Given the description of an element on the screen output the (x, y) to click on. 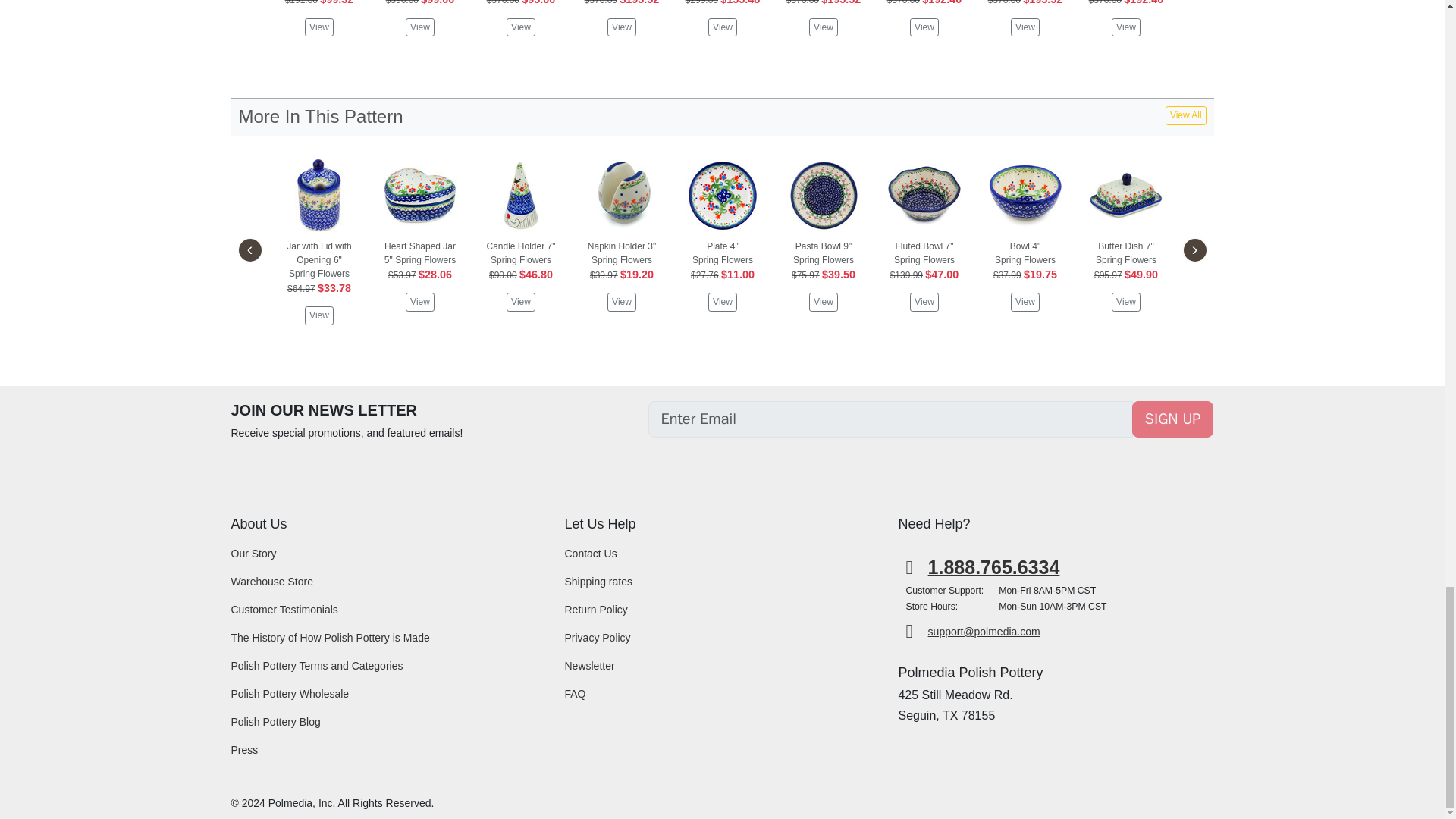
Email Address (889, 419)
